Given the description of an element on the screen output the (x, y) to click on. 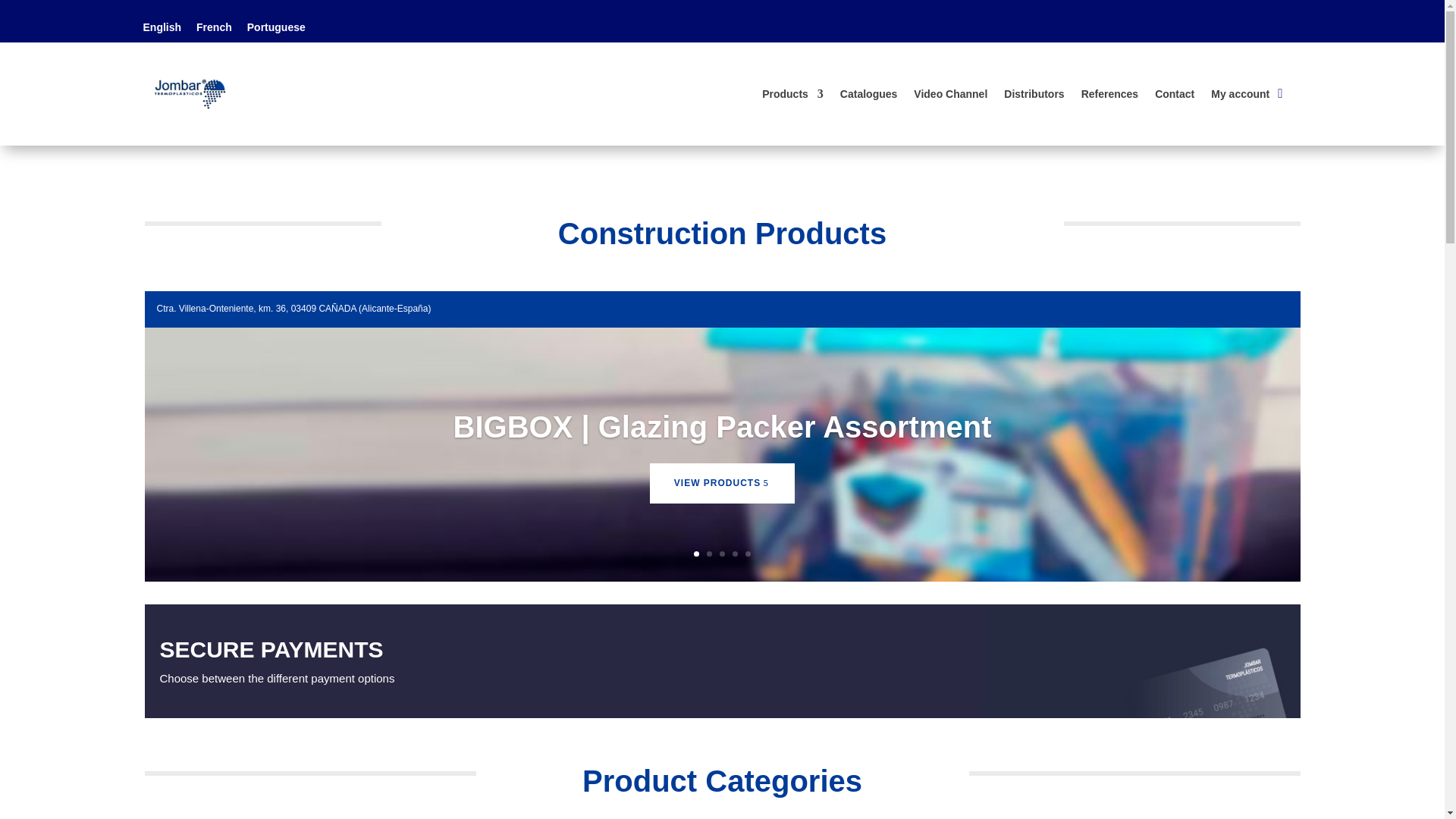
4 (735, 553)
Products (792, 93)
English (162, 26)
3 (722, 553)
French (214, 26)
Distributors (1034, 93)
Catalogues (868, 93)
References (1109, 93)
Portuguese (276, 26)
VIEW PRODUCTS (721, 499)
2 (708, 553)
My account (1240, 93)
Video Channel (950, 93)
